Given the description of an element on the screen output the (x, y) to click on. 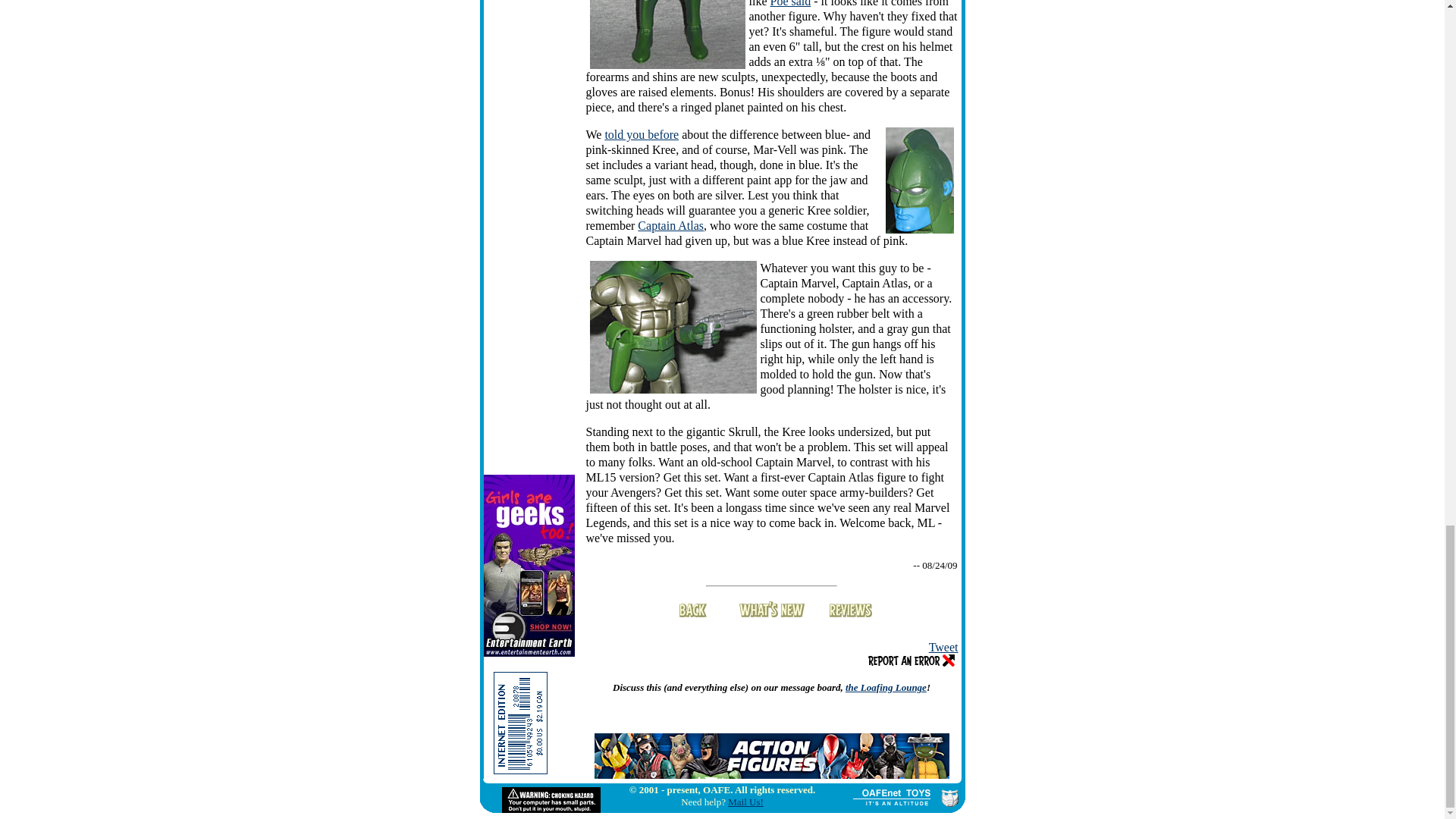
told you before (641, 133)
it's chilly in space (919, 180)
Tweet (943, 646)
the Loafing Lounge (885, 686)
Captain Atlas (670, 225)
wait... something wrong here... (673, 327)
Kree Soldier (667, 34)
Poe said (790, 3)
